Given the description of an element on the screen output the (x, y) to click on. 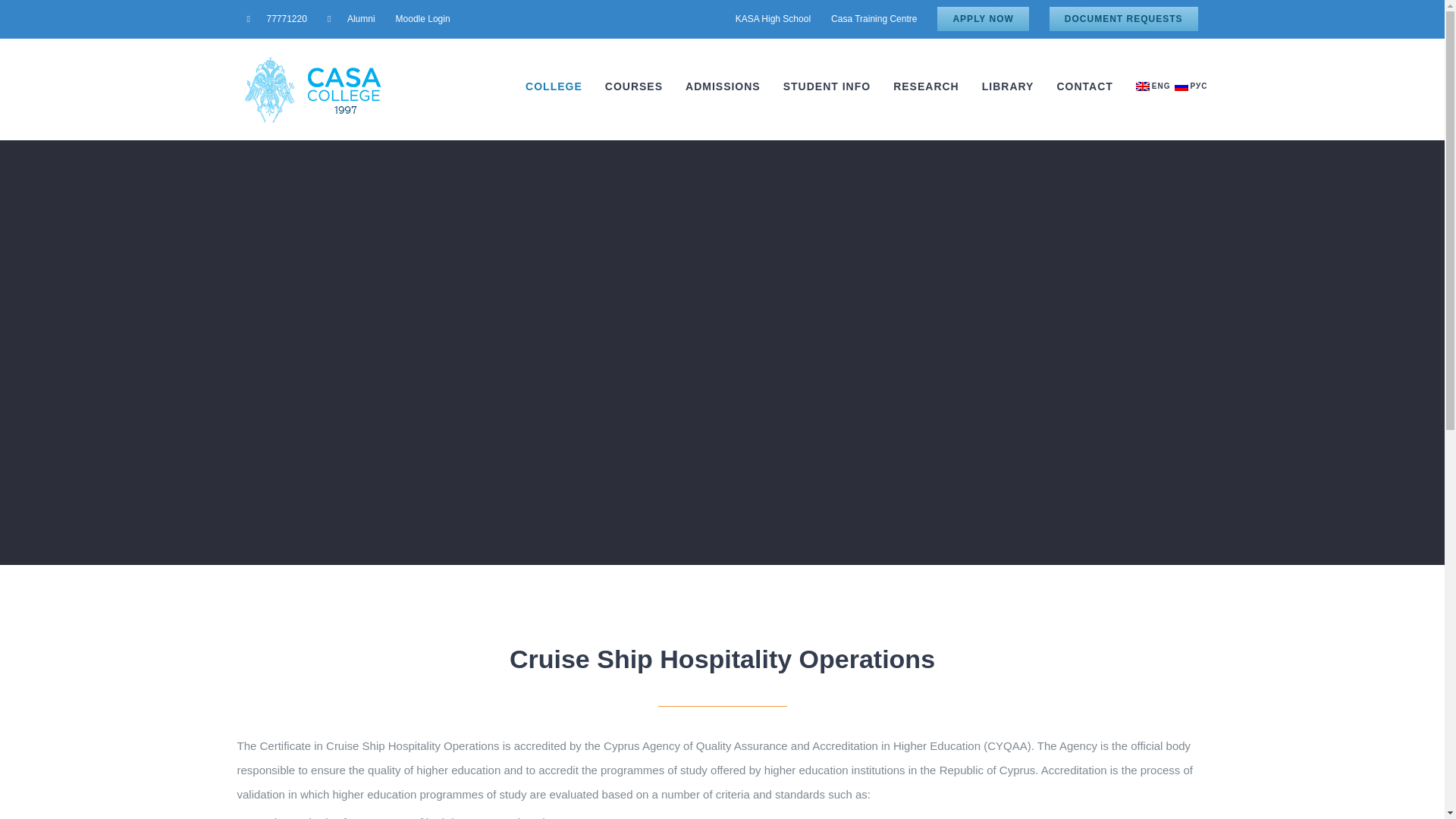
DOCUMENT REQUESTS (1123, 18)
APPLY NOW (982, 18)
Casa Training Centre (873, 18)
KASA High School (773, 18)
77771220 (275, 18)
Alumni (351, 18)
Moodle Login (422, 18)
